Given the description of an element on the screen output the (x, y) to click on. 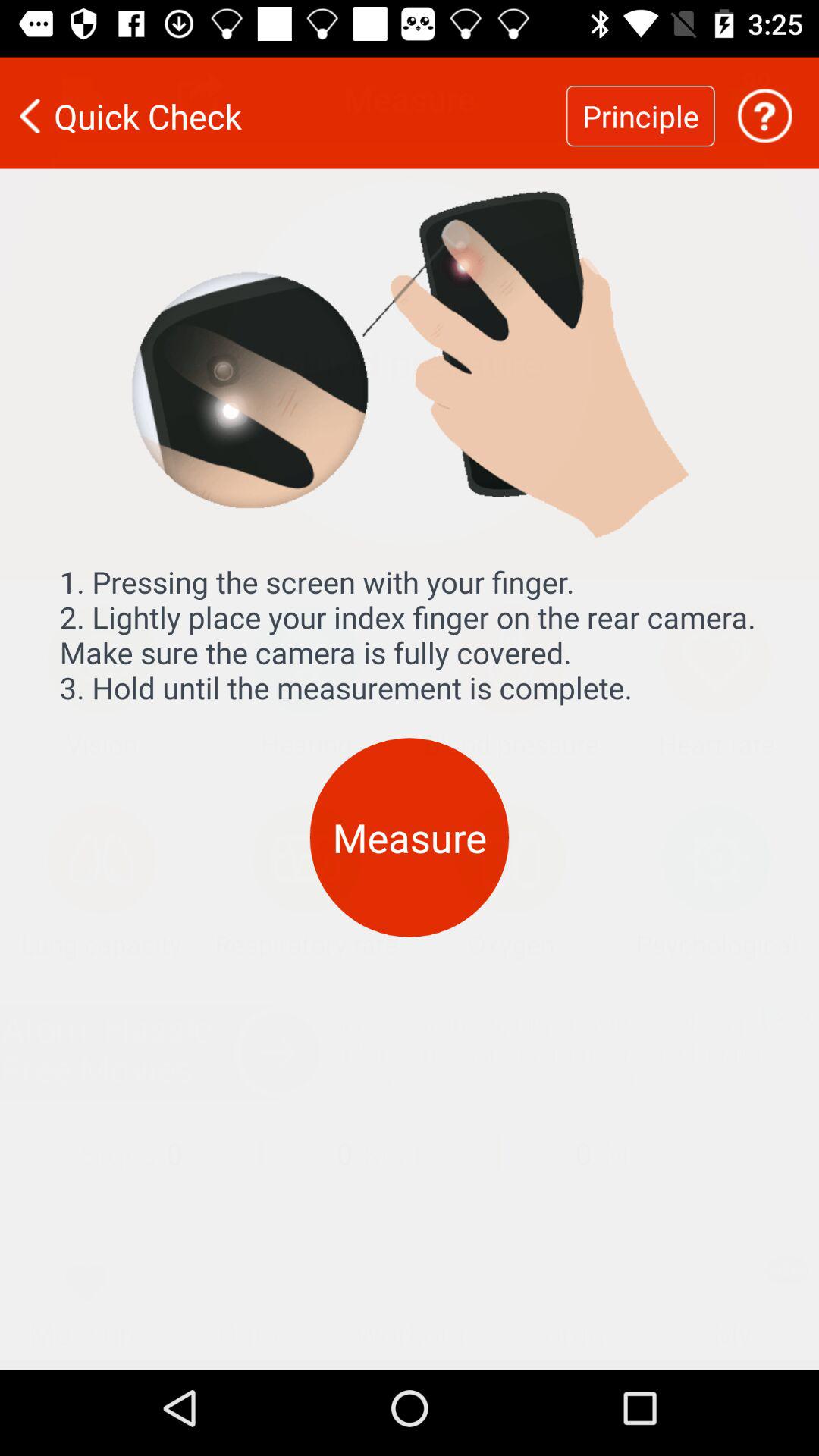
launch icon next to the principle icon (283, 106)
